Given the description of an element on the screen output the (x, y) to click on. 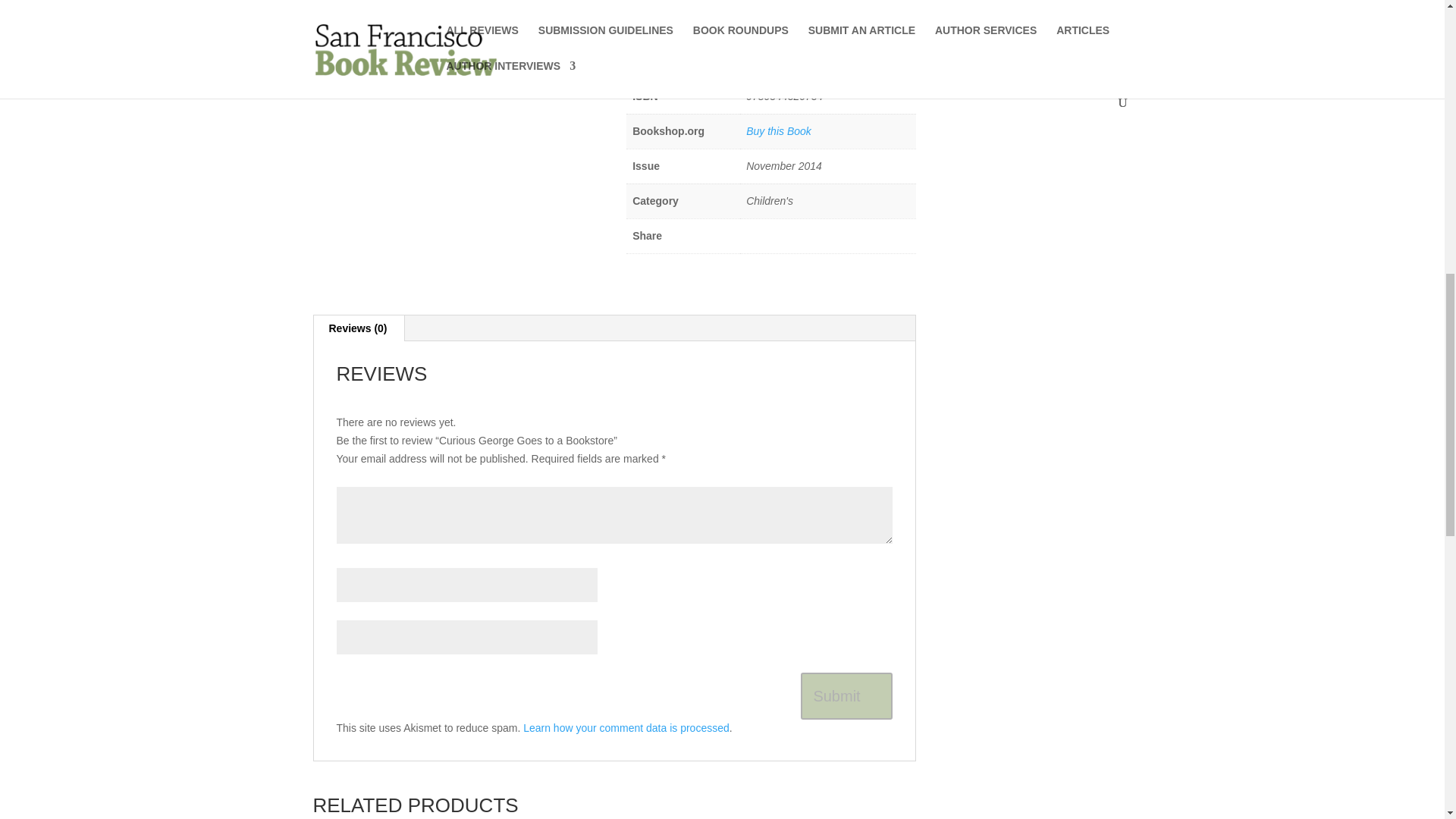
Submit (845, 696)
Submit (845, 696)
Learn how your comment data is processed (625, 727)
Buy this Book (777, 131)
